Given the description of an element on the screen output the (x, y) to click on. 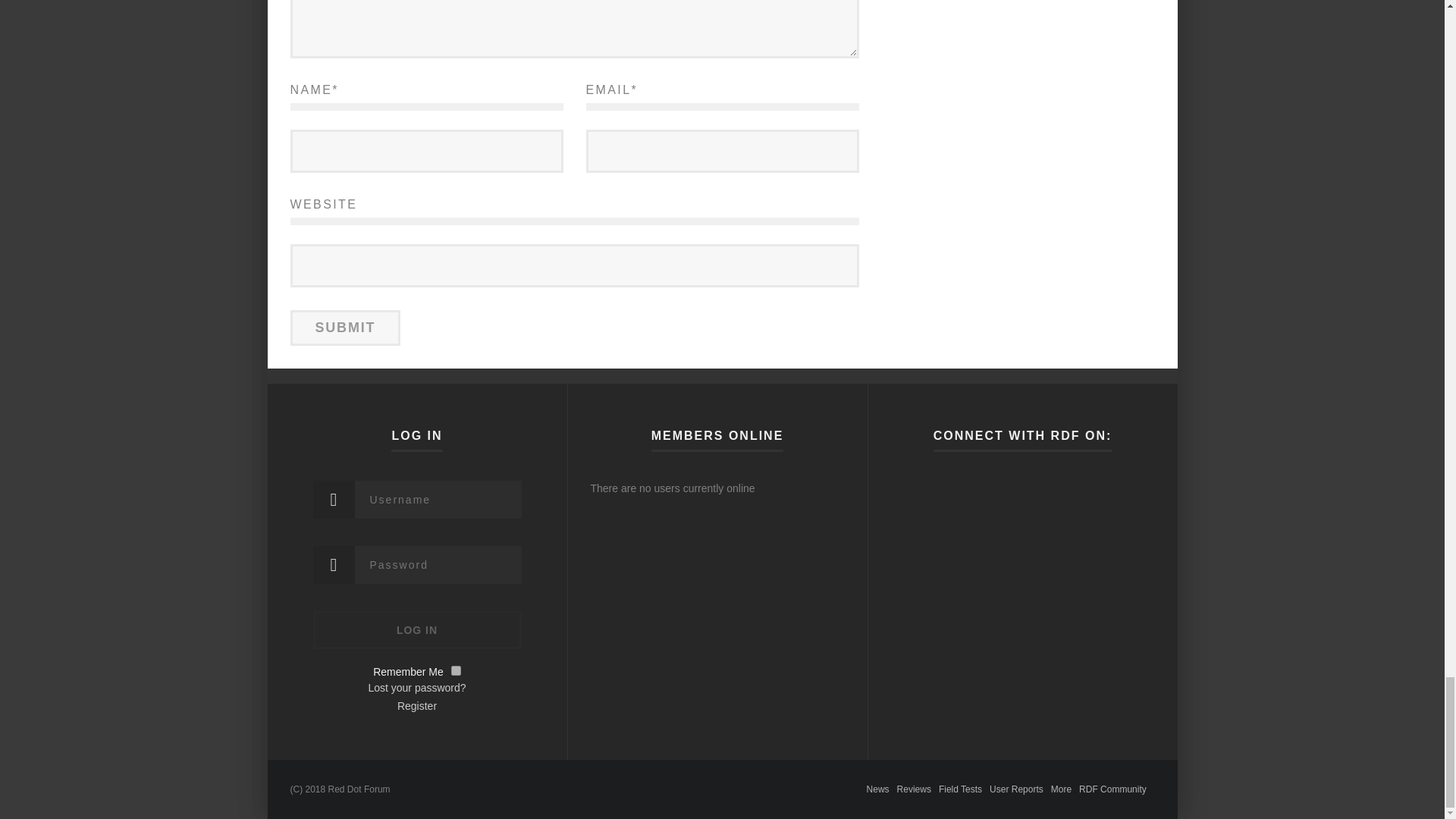
forever (456, 670)
Log In (417, 629)
Submit (344, 327)
